Given the description of an element on the screen output the (x, y) to click on. 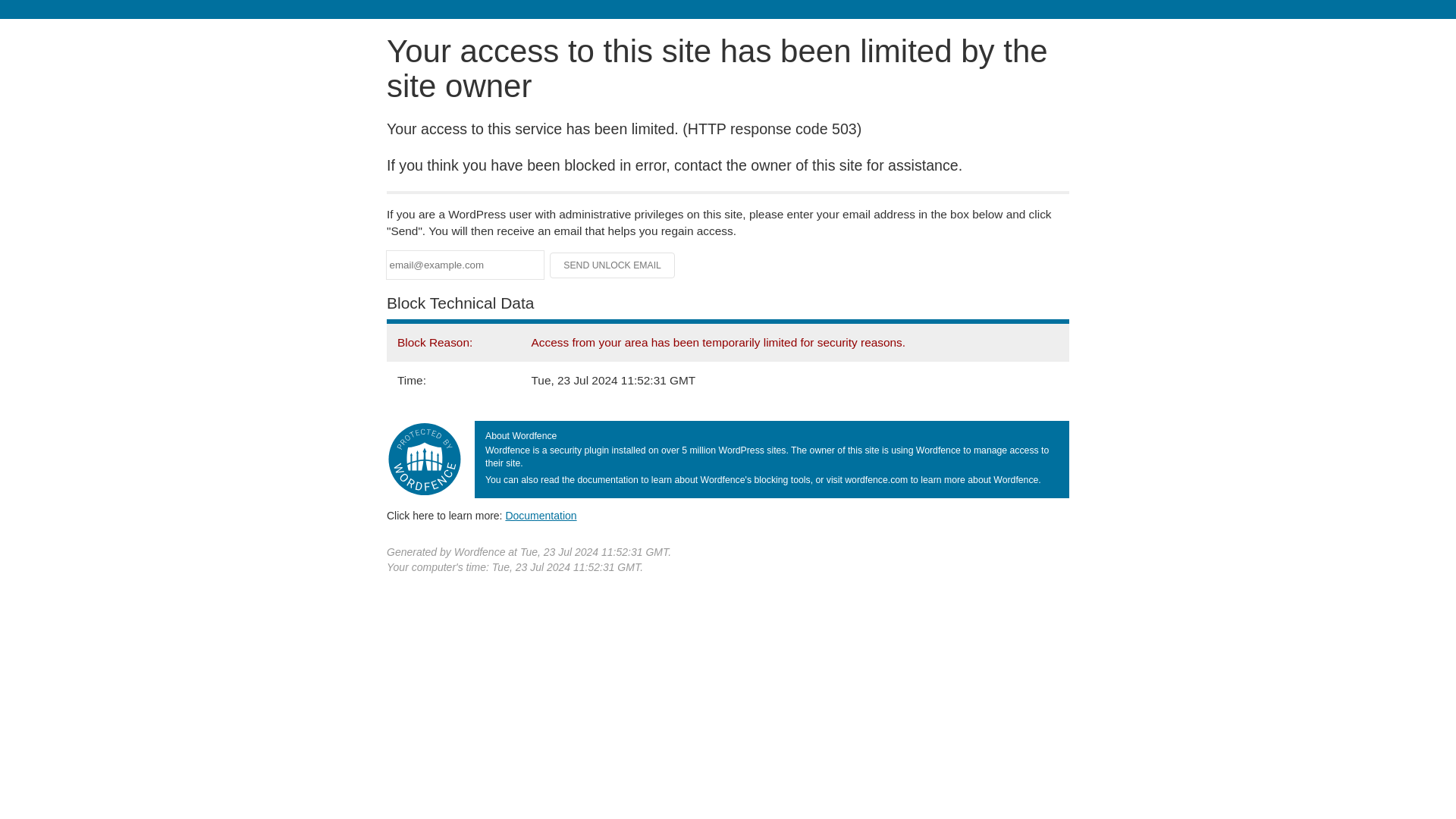
Send Unlock Email (612, 265)
Documentation (540, 515)
Send Unlock Email (612, 265)
